Given the description of an element on the screen output the (x, y) to click on. 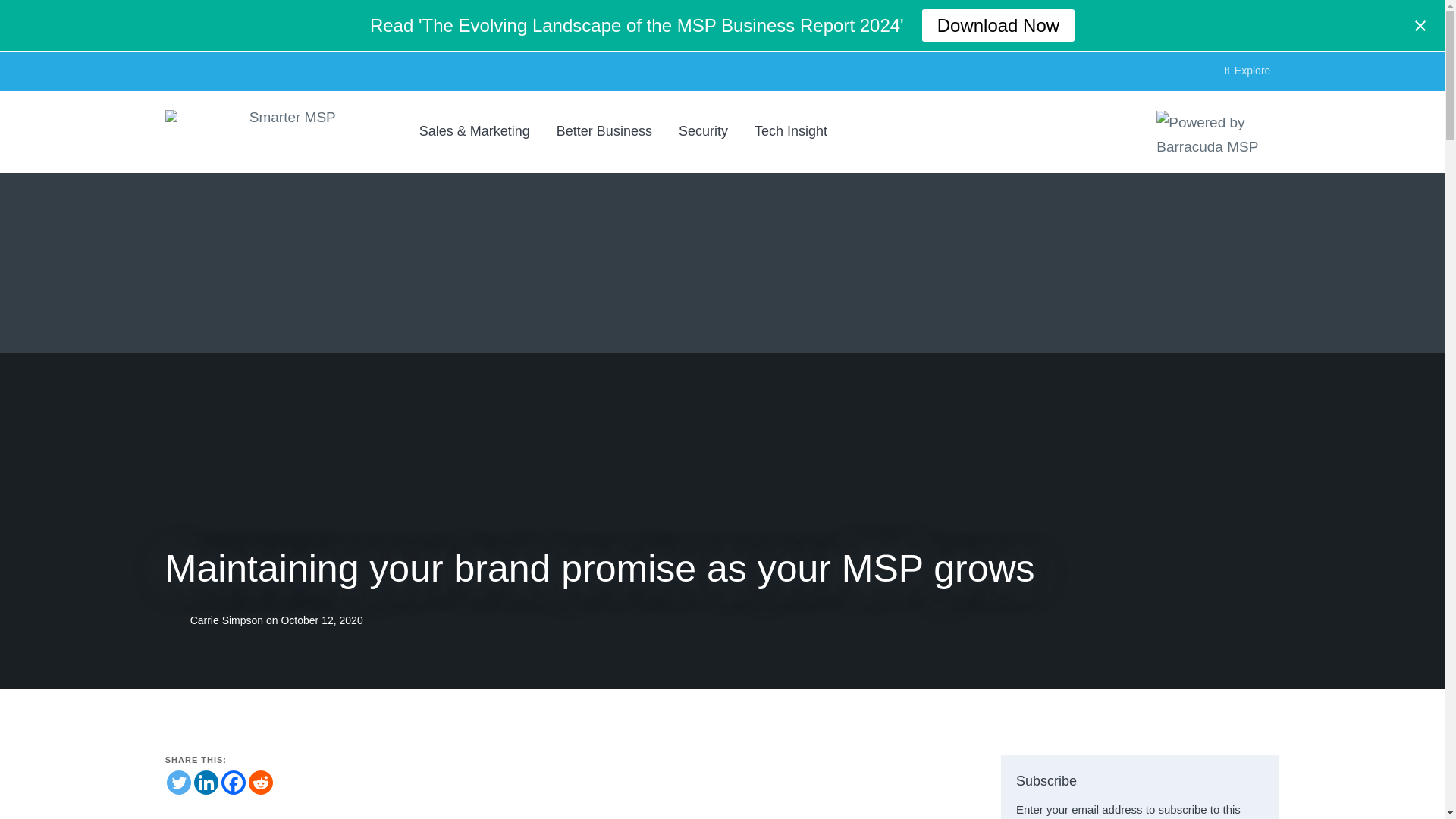
Download Now (997, 25)
